Given the description of an element on the screen output the (x, y) to click on. 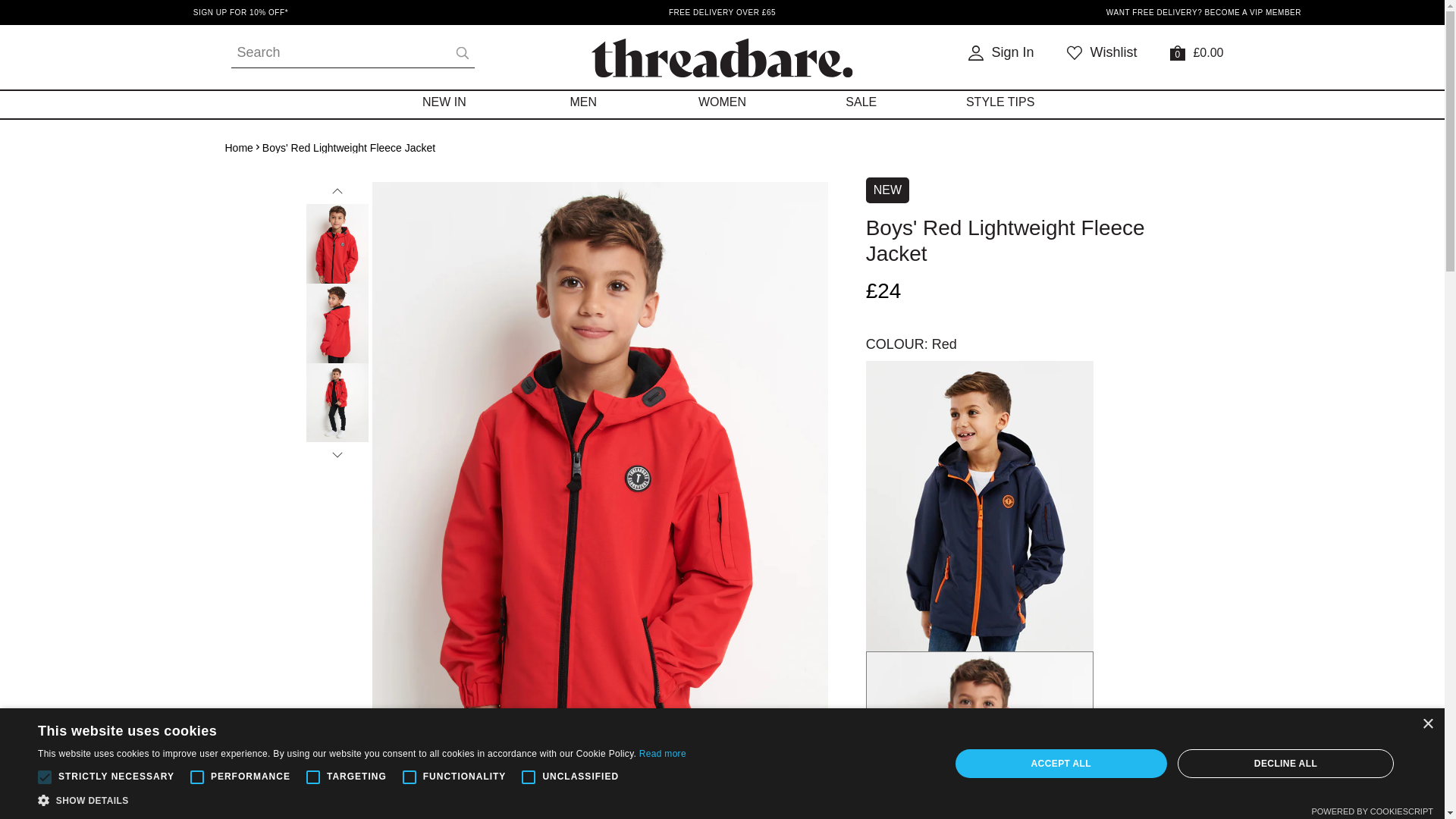
Men (582, 99)
Sign In (1000, 52)
NEW IN (443, 99)
Wishlist (1101, 52)
Wishlist (1101, 52)
MEN (1000, 52)
New In (582, 99)
Cart (443, 99)
